Given the description of an element on the screen output the (x, y) to click on. 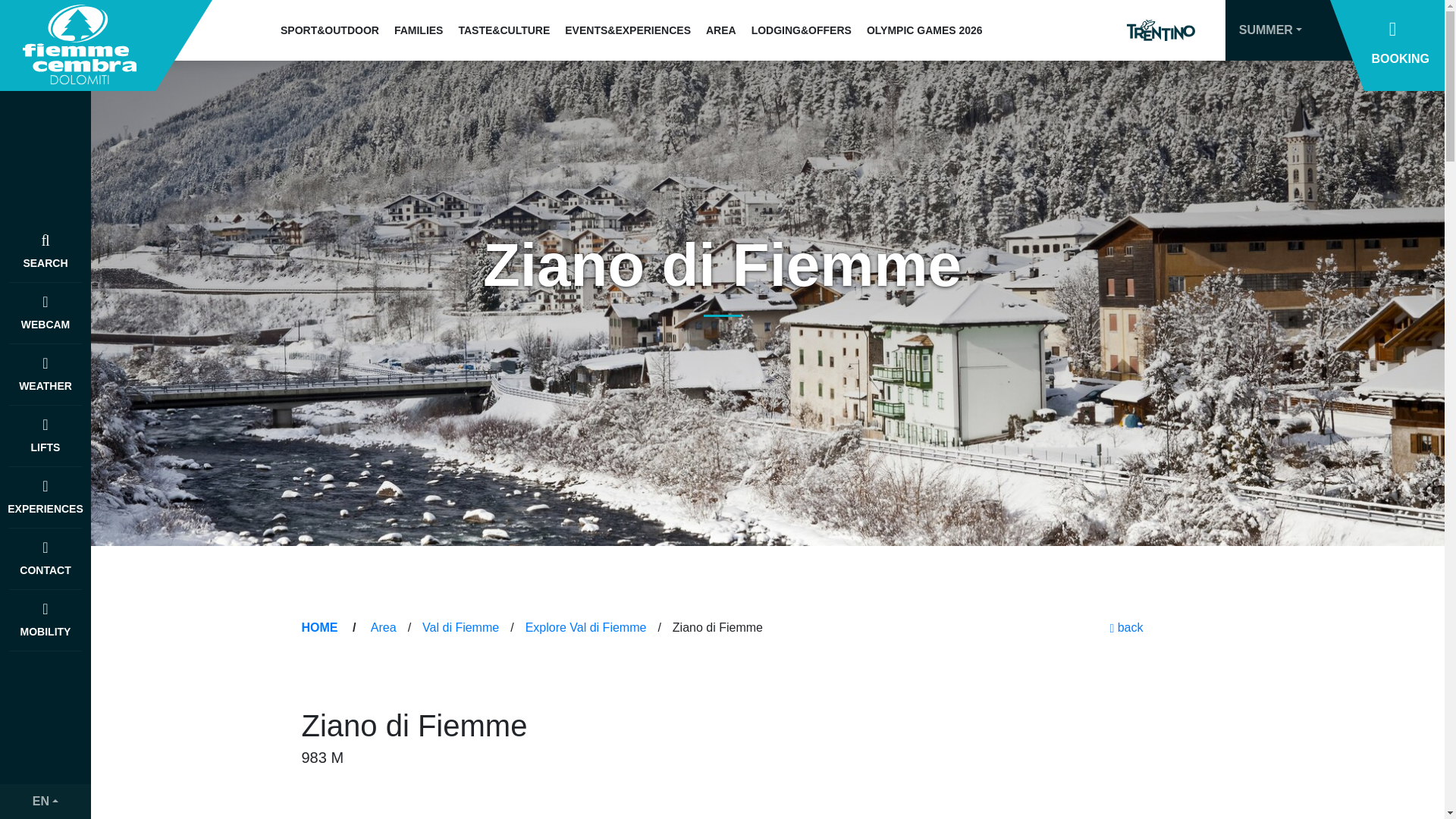
OLYMPIC GAMES 2026 (924, 30)
SUMMER (1270, 30)
FAMILIES (419, 30)
